Given the description of an element on the screen output the (x, y) to click on. 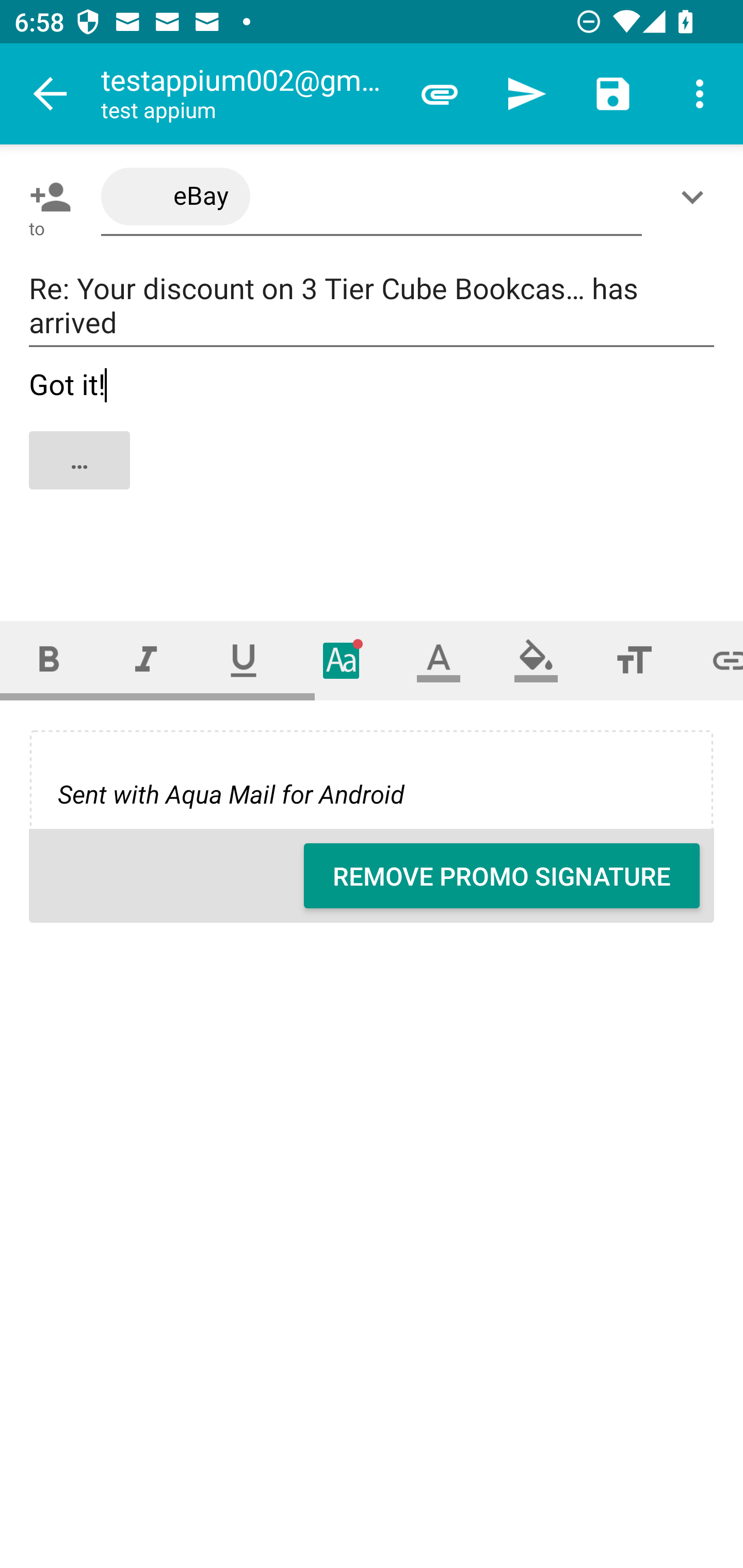
Navigate up (50, 93)
testappium002@gmail.com test appium (248, 93)
Attach (439, 93)
Send (525, 93)
Save (612, 93)
More options (699, 93)
eBay <ebay@ebay.com>,  (371, 197)
Pick contact: To (46, 196)
Show/Add CC/BCC (696, 196)
Got it!
…
 (372, 477)
Bold (48, 660)
Italic (145, 660)
Underline (243, 660)
Typeface (font) (341, 660)
Text color (438, 660)
Fill color (536, 660)
Font size (633, 660)
REMOVE PROMO SIGNATURE (501, 875)
